Given the description of an element on the screen output the (x, y) to click on. 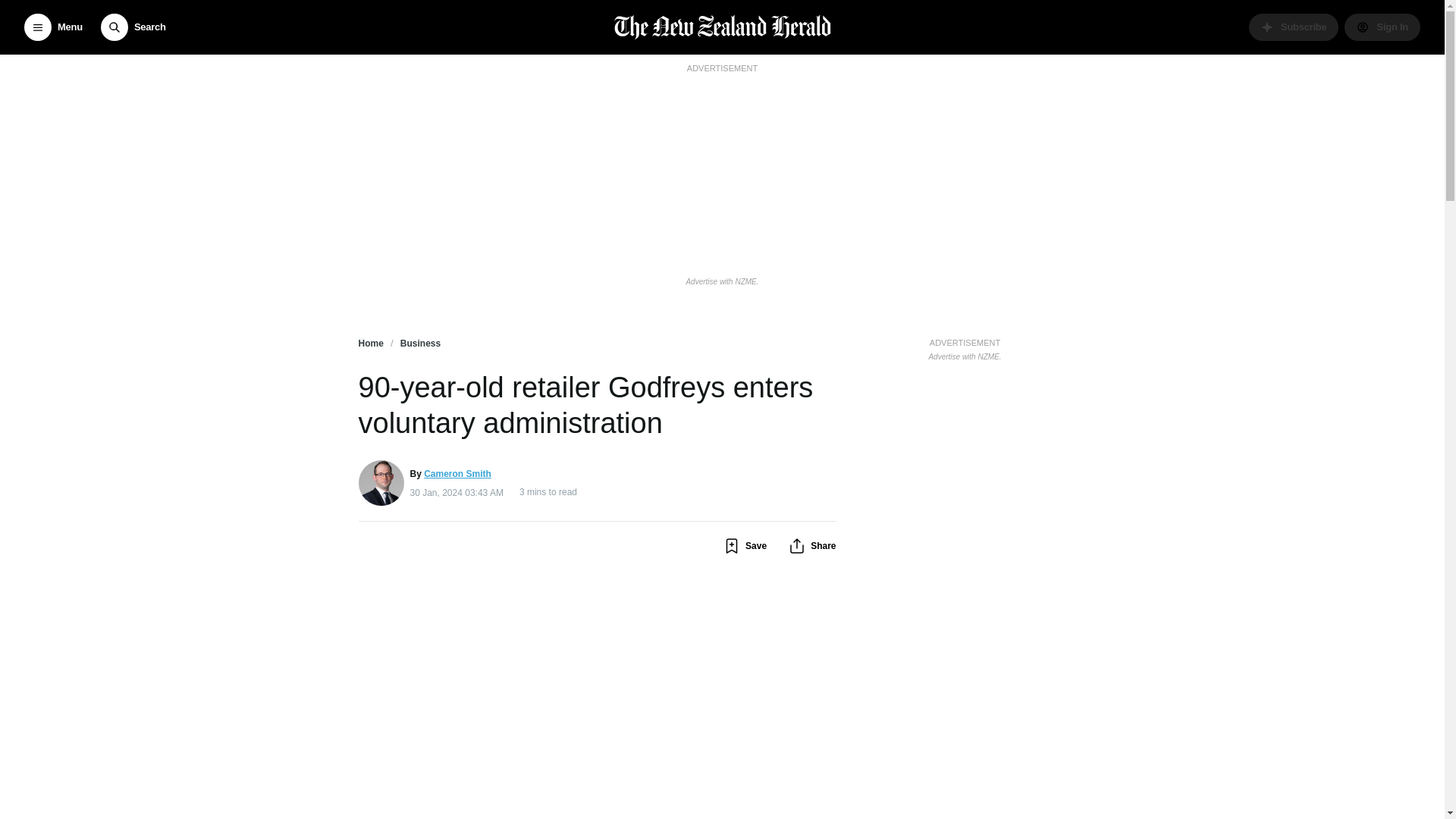
Manage your account (1382, 26)
Search (132, 26)
Subscribe (1294, 26)
Menu (53, 26)
Sign In (1382, 26)
